Given the description of an element on the screen output the (x, y) to click on. 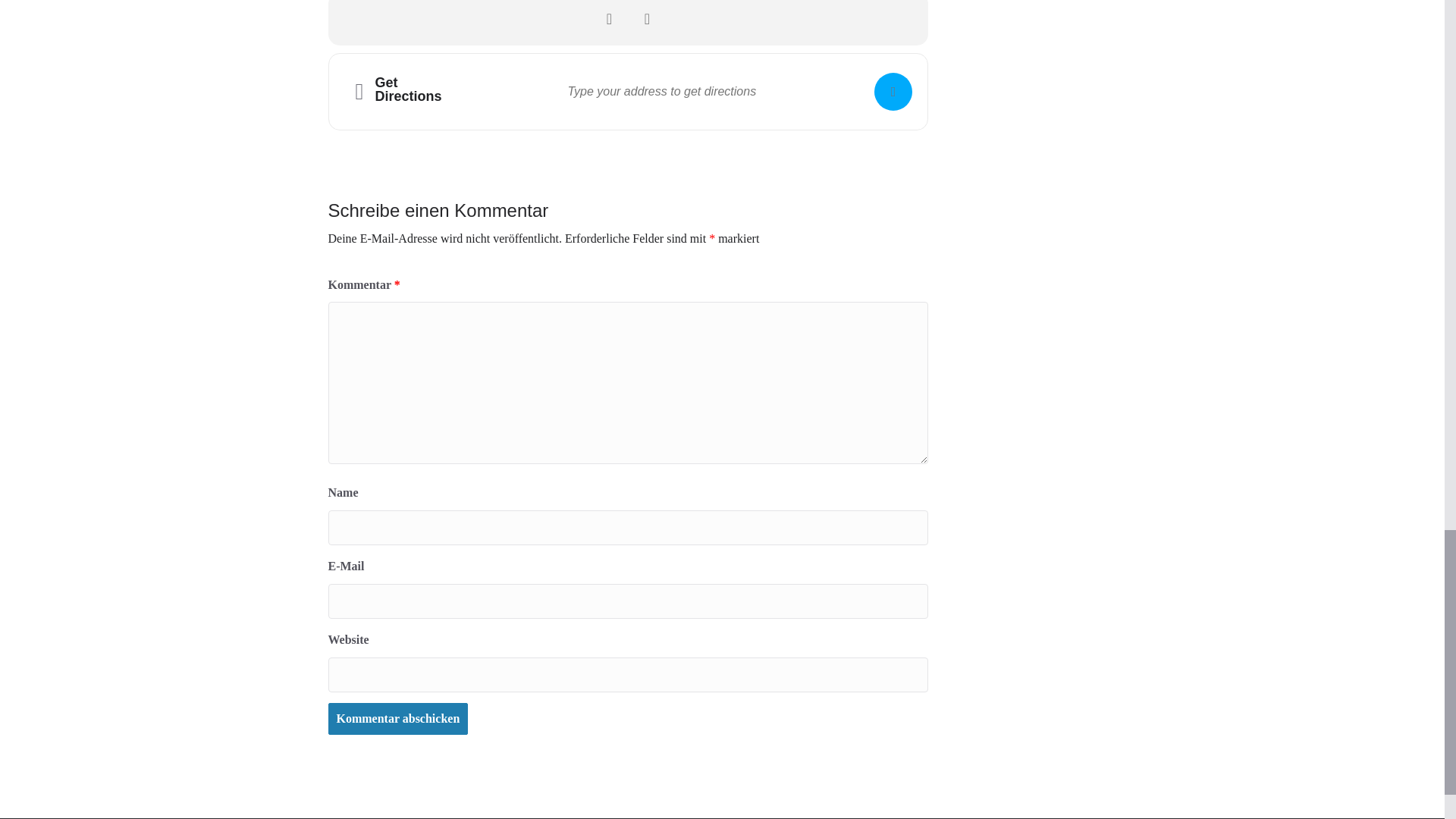
Share on Twitter (646, 18)
Click here to get directions (893, 91)
Kommentar abschicken (397, 718)
Share on facebook (608, 18)
Kommentar abschicken (397, 718)
